Given the description of an element on the screen output the (x, y) to click on. 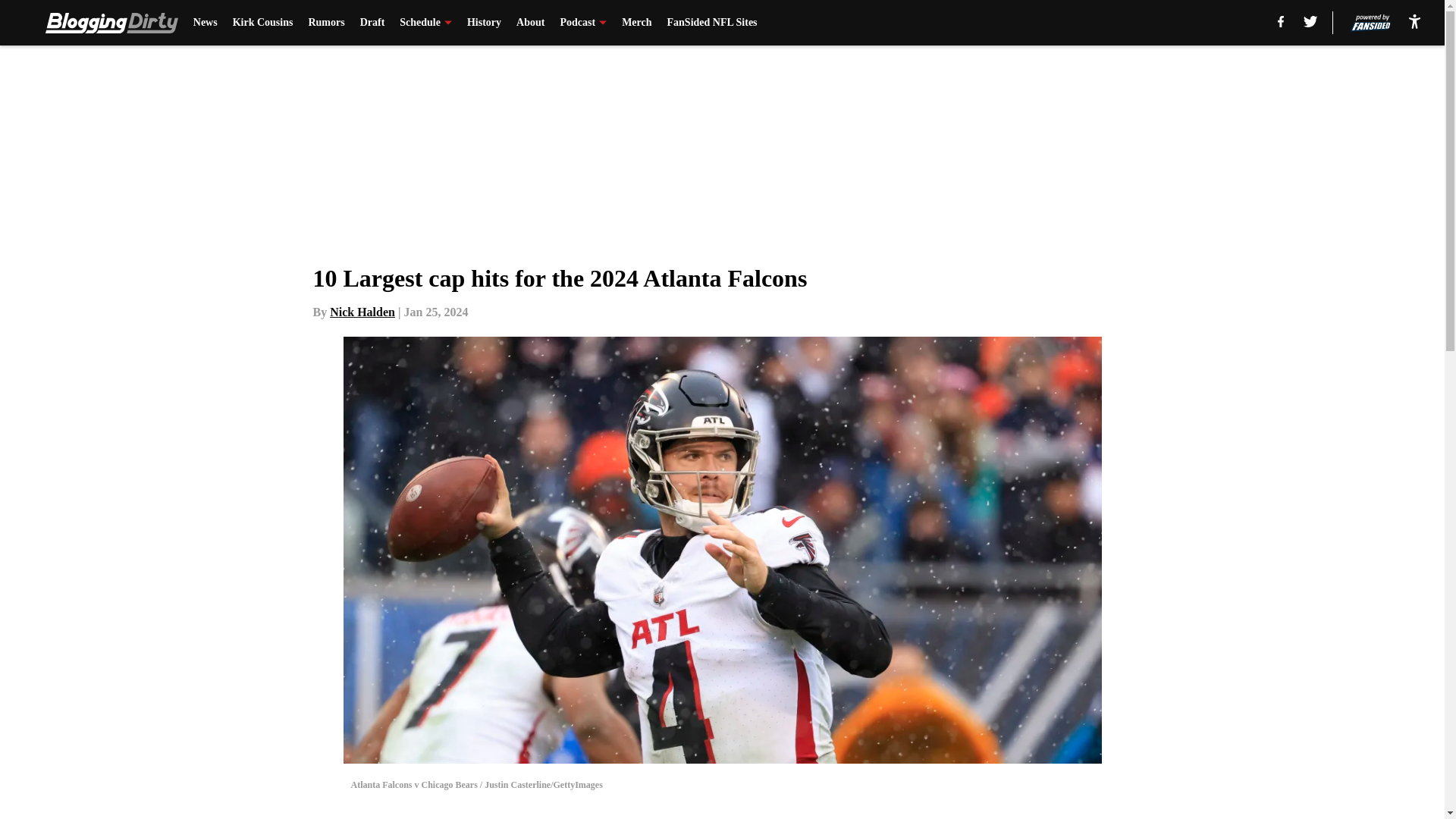
Rumors (325, 22)
Draft (372, 22)
FanSided NFL Sites (711, 22)
About (530, 22)
Merch (635, 22)
News (204, 22)
Nick Halden (362, 311)
History (483, 22)
Kirk Cousins (263, 22)
